Given the description of an element on the screen output the (x, y) to click on. 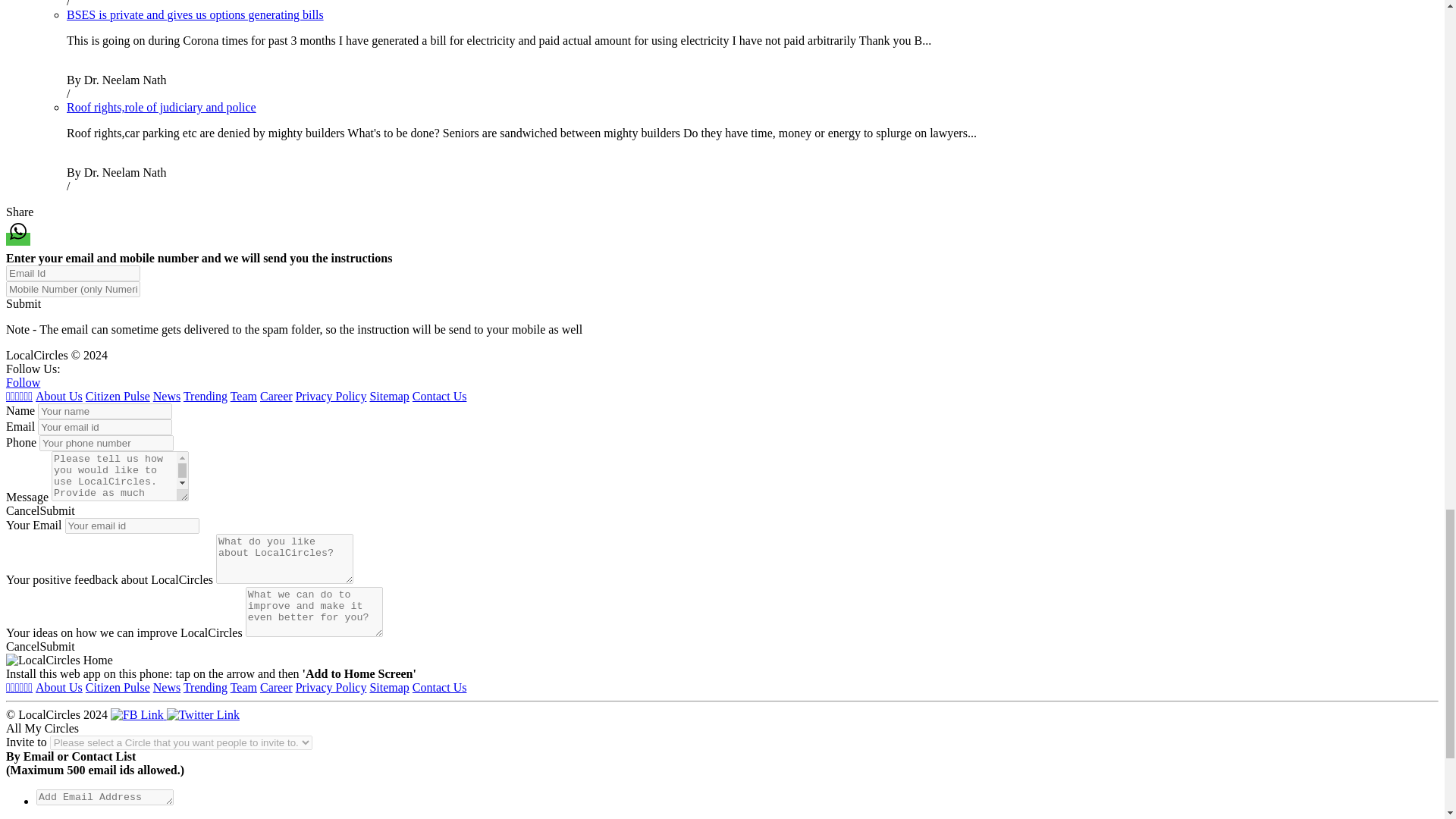
WhatsApp (17, 231)
